Given the description of an element on the screen output the (x, y) to click on. 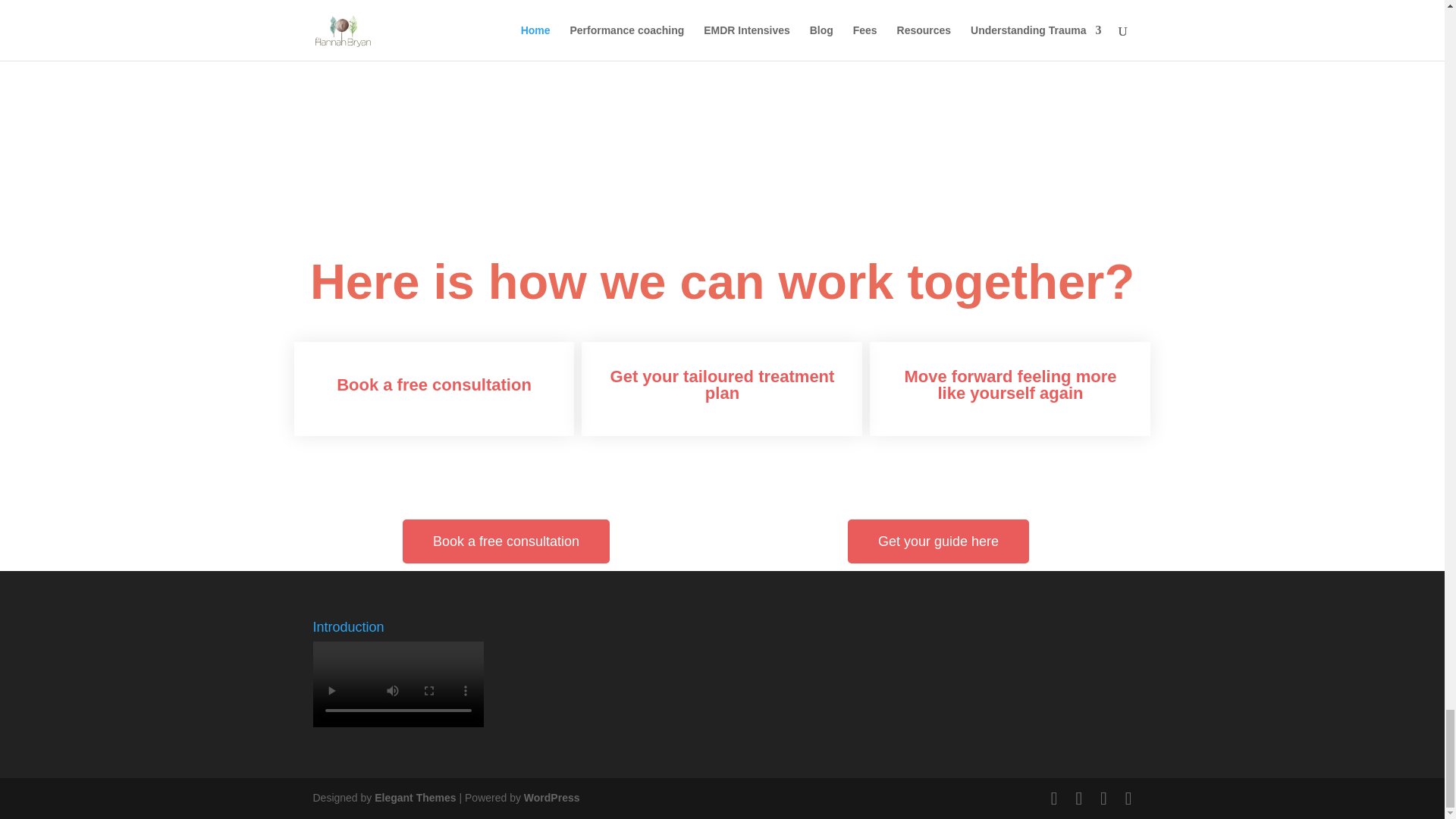
Elegant Themes (414, 797)
WordPress (551, 797)
Book a free consultation (506, 541)
Get your guide here (938, 541)
Premium WordPress Themes (414, 797)
